Given the description of an element on the screen output the (x, y) to click on. 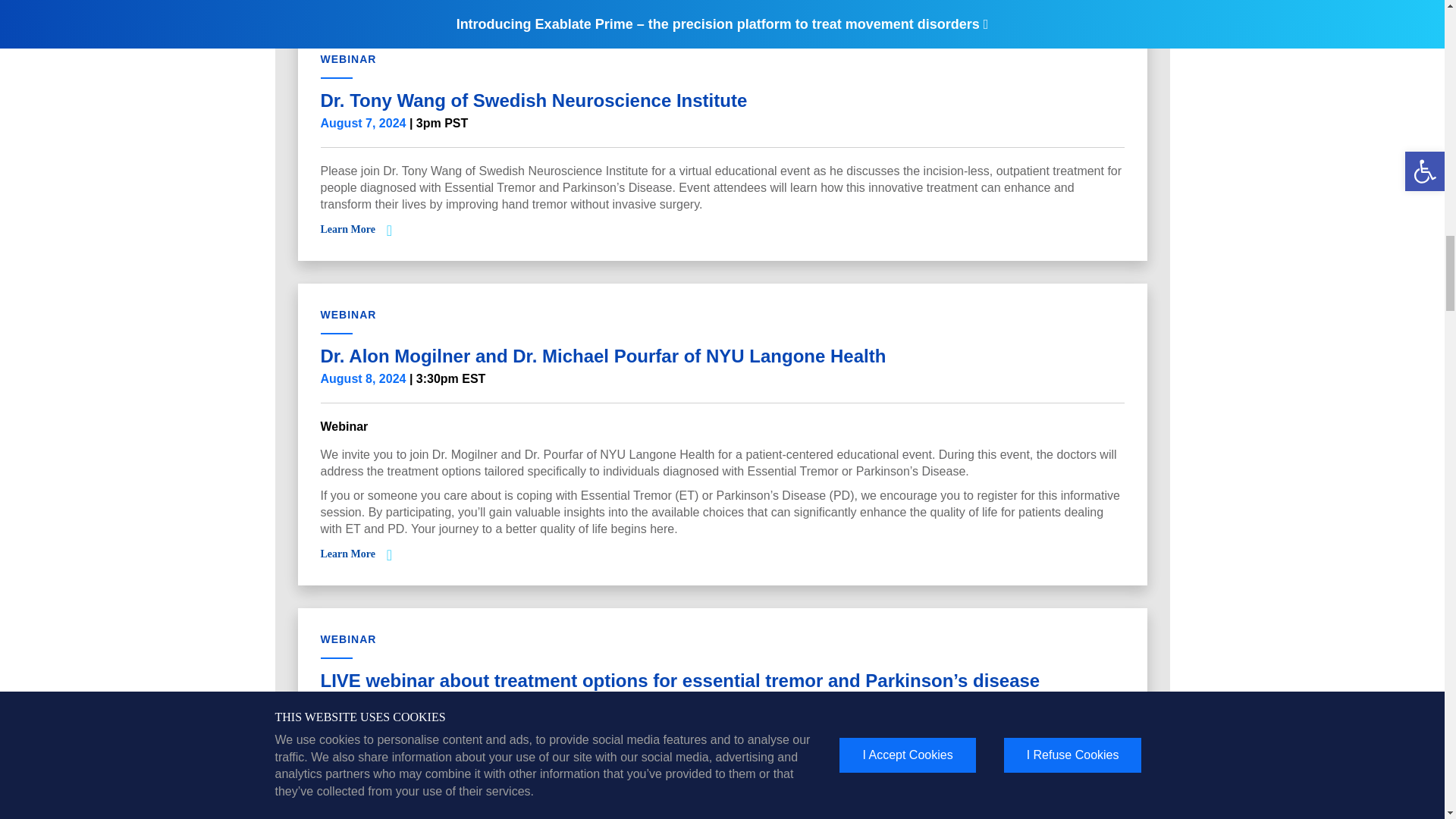
Learn More (347, 553)
Learn More (347, 229)
